Given the description of an element on the screen output the (x, y) to click on. 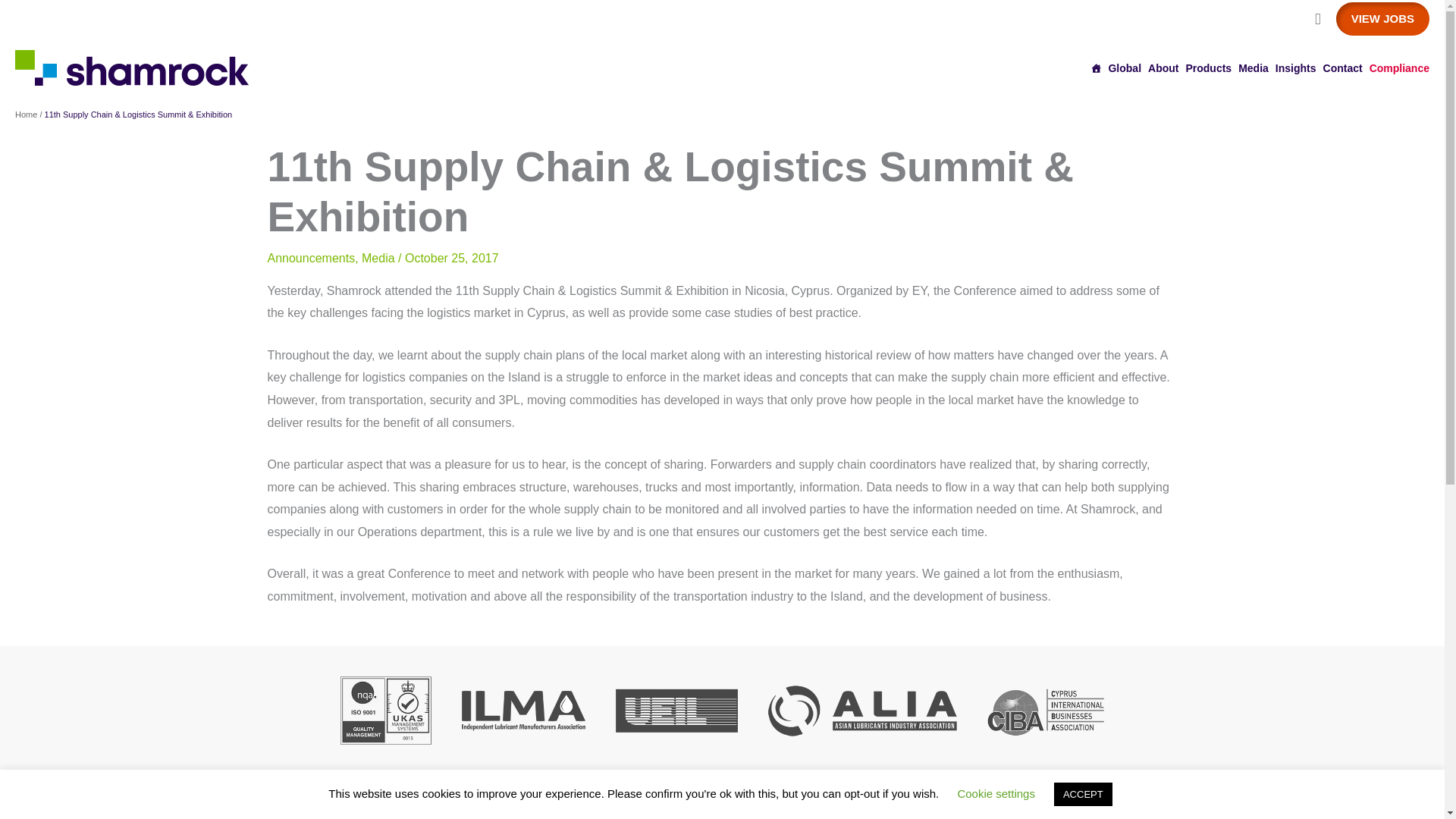
Shamrock Oils Alia accreditation (862, 710)
About (1162, 67)
Search (1317, 18)
Global (1124, 67)
Products (1208, 67)
VIEW JOBS (1382, 19)
